Given the description of an element on the screen output the (x, y) to click on. 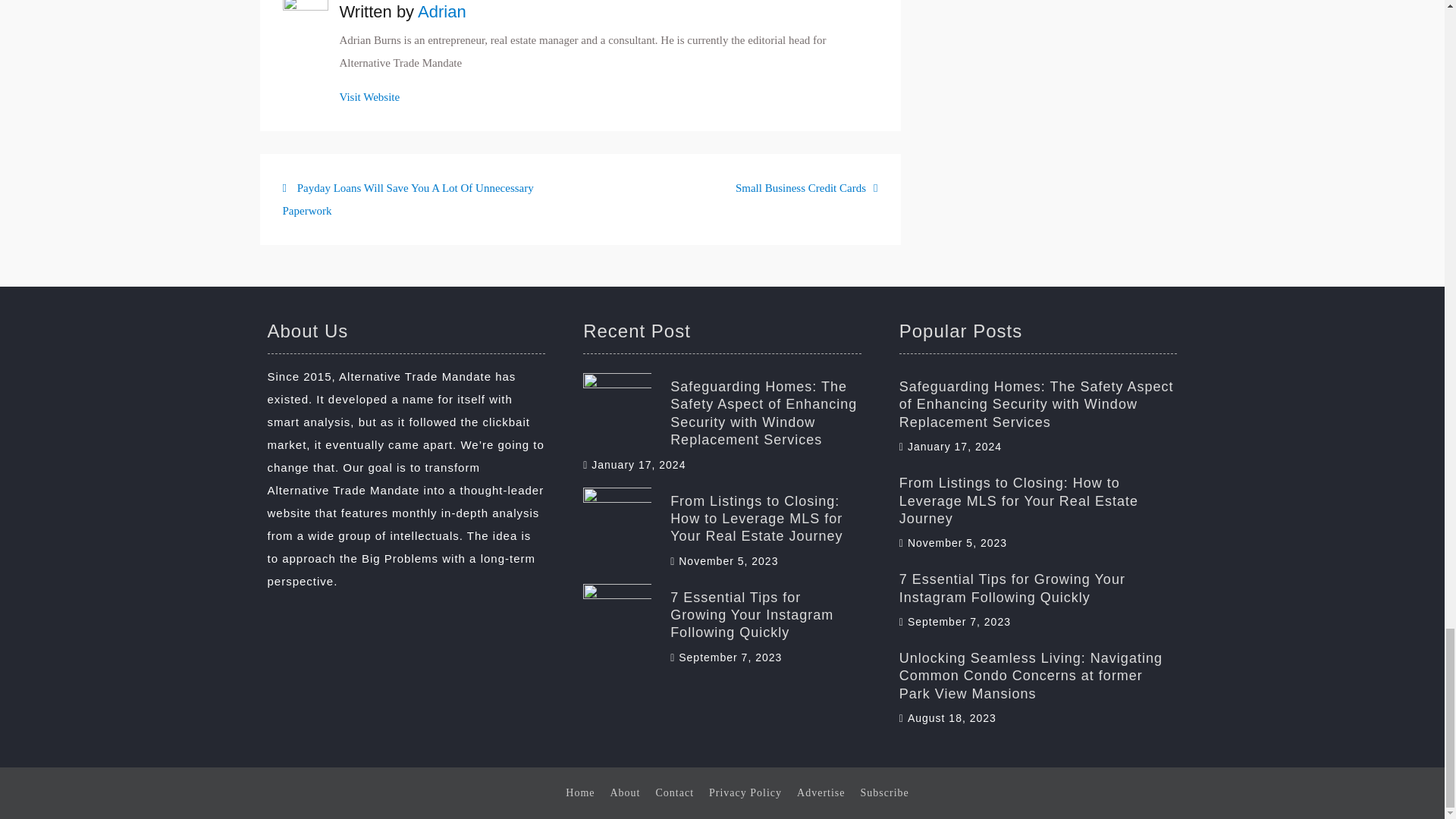
Posts by Adrian (441, 11)
Adrian (806, 187)
Visit Website (441, 11)
